Given the description of an element on the screen output the (x, y) to click on. 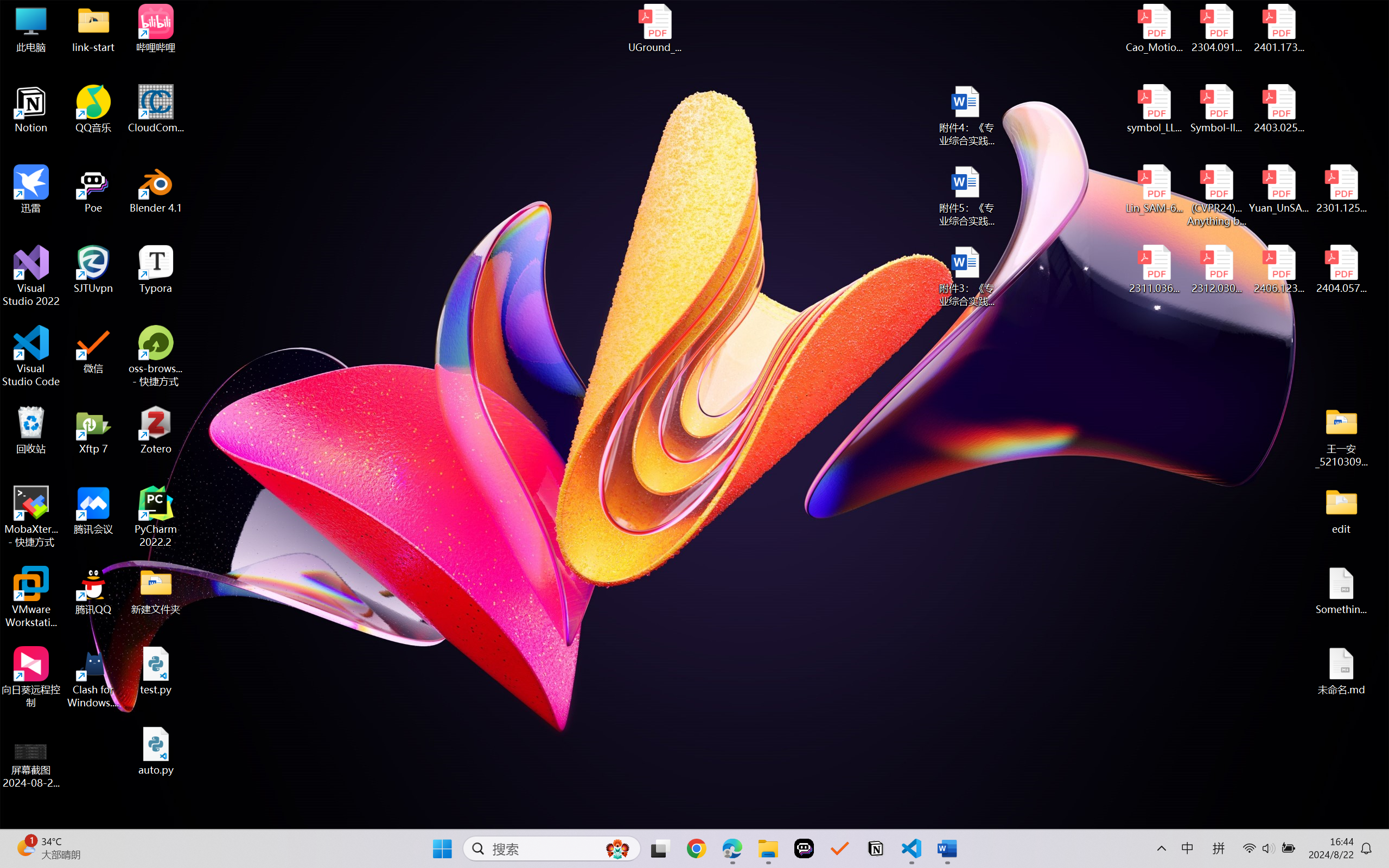
Symbol-llm-v2.pdf (1216, 109)
2404.05719v1.pdf (1340, 269)
2403.02502v1.pdf (1278, 109)
Typora (156, 269)
2301.12597v3.pdf (1340, 189)
Blender 4.1 (156, 189)
